Given the description of an element on the screen output the (x, y) to click on. 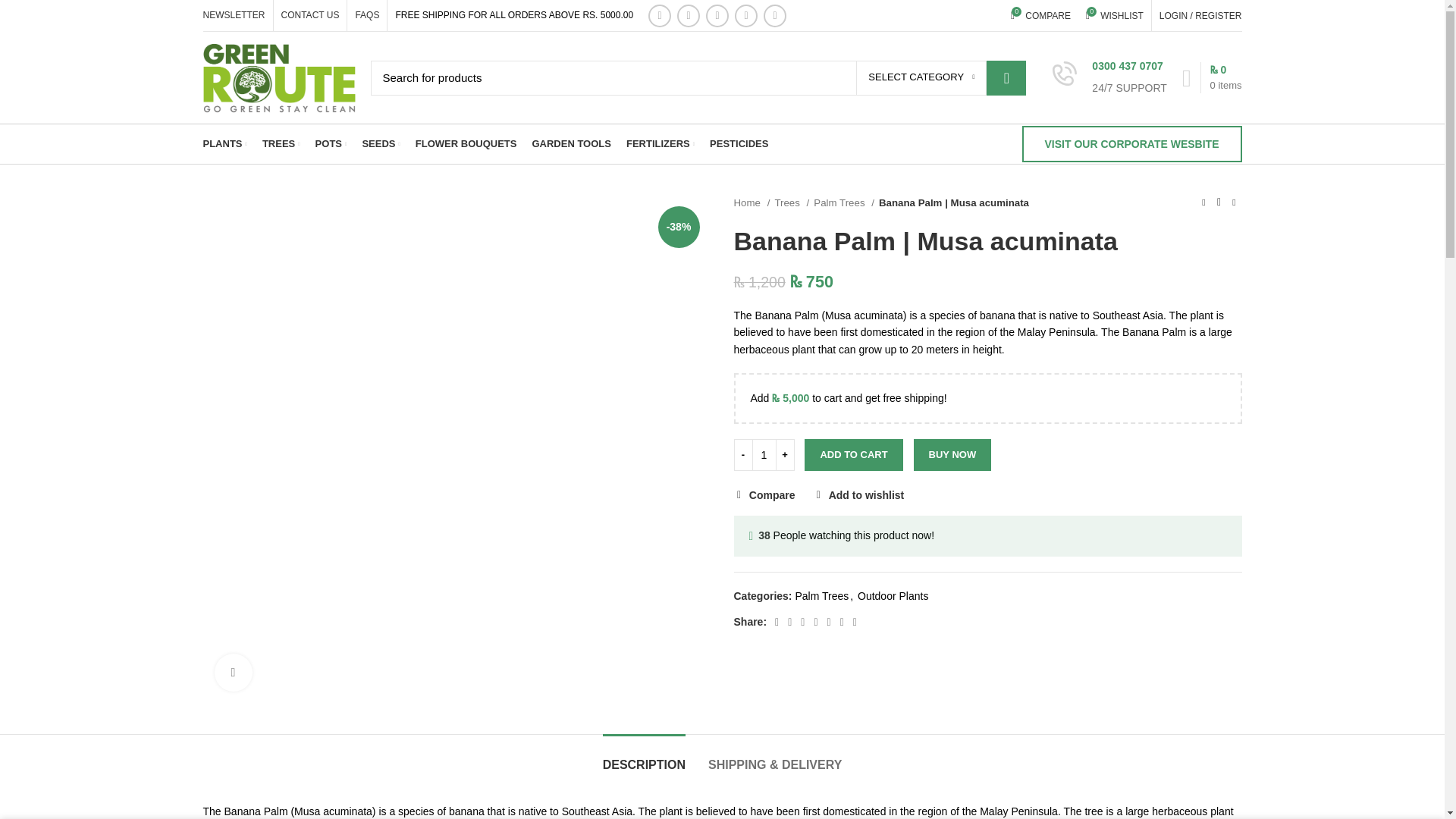
SELECT CATEGORY (921, 77)
Search for products (697, 77)
FAQS (367, 15)
NEWSLETTER (1114, 15)
Compare products (234, 15)
CONTACT US (1040, 15)
Shopping cart (1040, 15)
My Wishlist (310, 15)
